Given the description of an element on the screen output the (x, y) to click on. 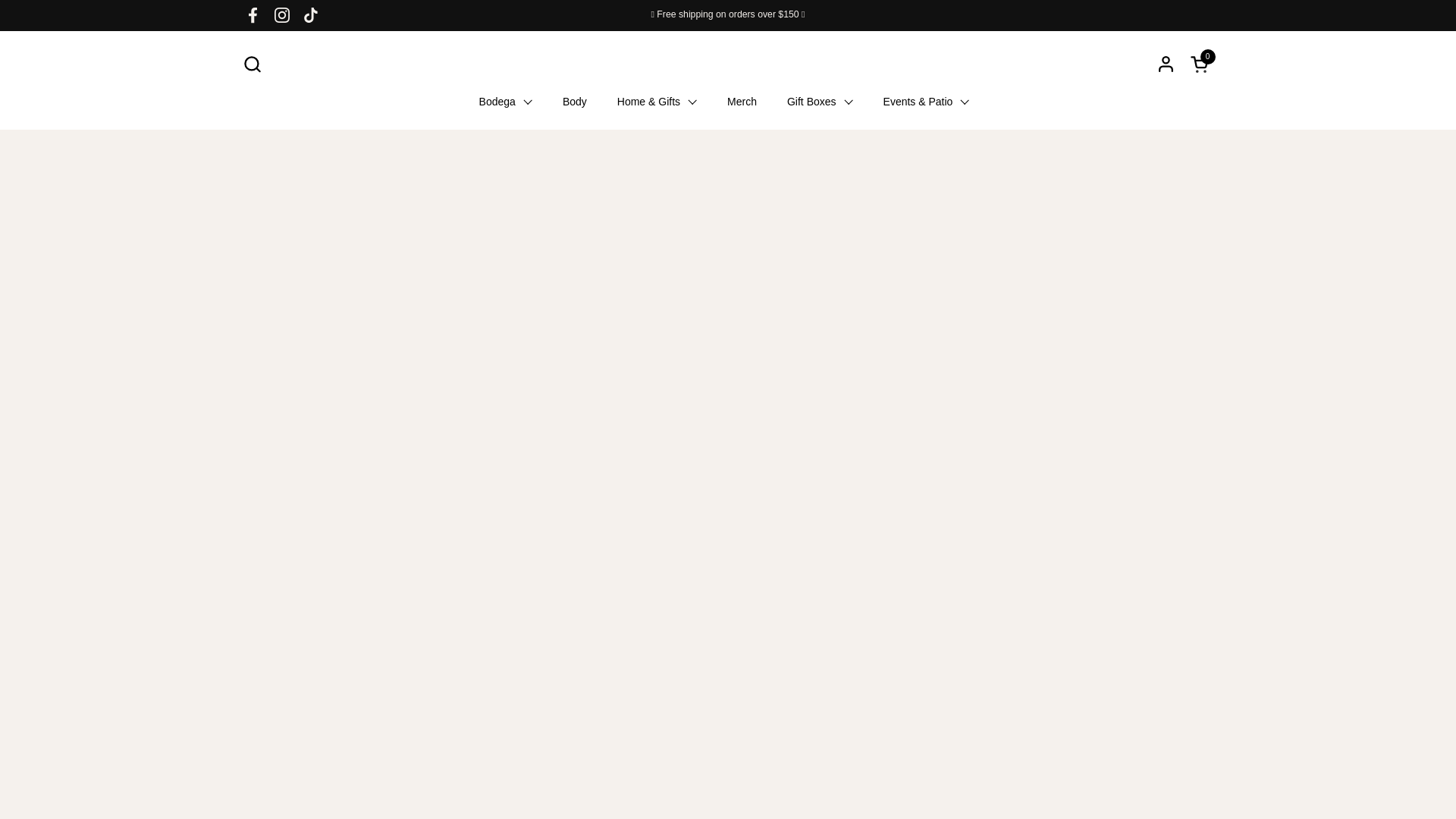
Bodega (505, 101)
Gift Boxes (1201, 63)
Open cart (819, 101)
Skip to content (1201, 63)
Facebook (252, 63)
TikTok (252, 14)
Merch (310, 14)
Body (741, 101)
Instagram (574, 101)
